Given the description of an element on the screen output the (x, y) to click on. 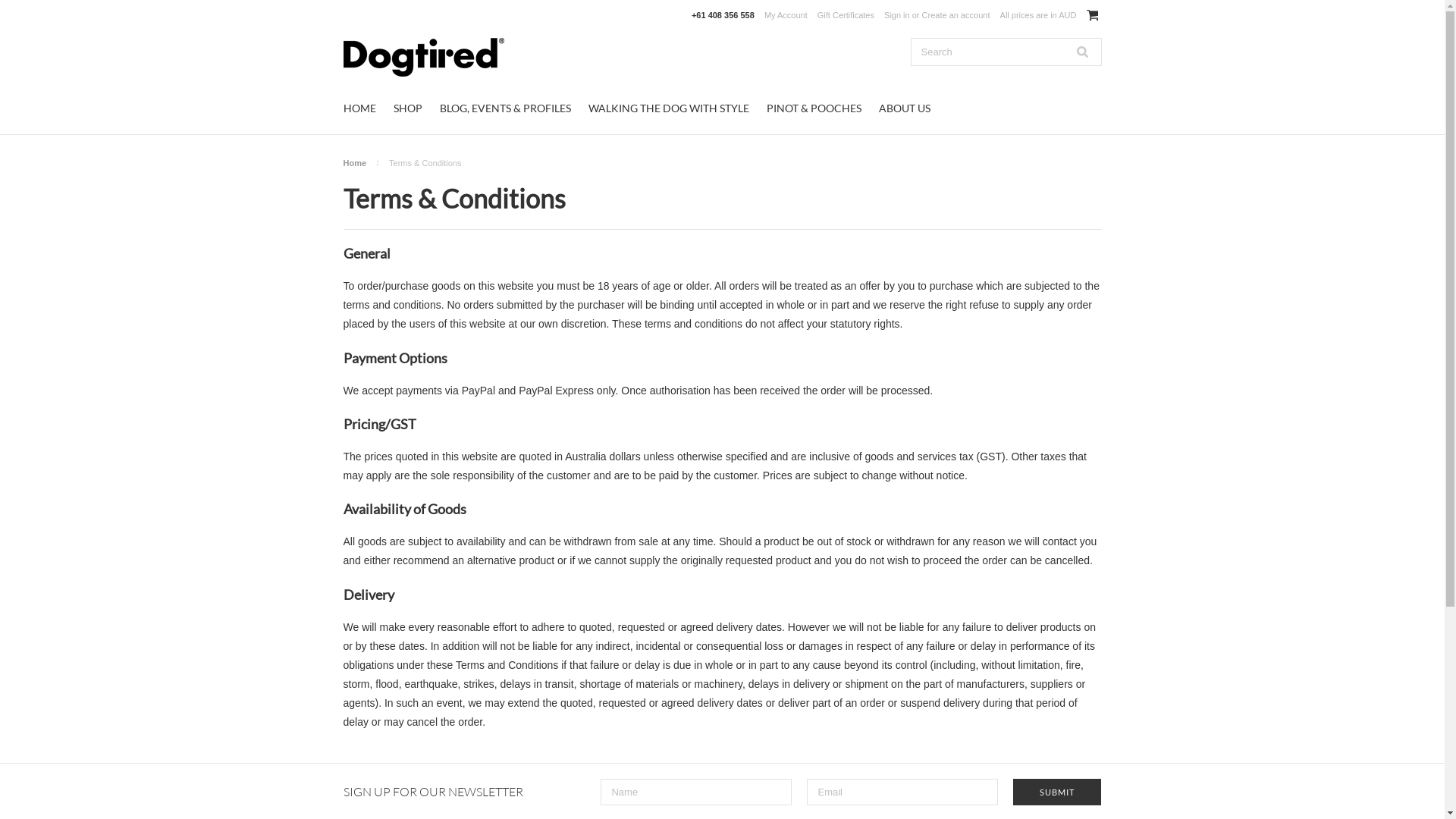
My Account Element type: text (785, 14)
ABOUT US Element type: text (903, 107)
Gift Certificates Element type: text (845, 14)
Create an account Element type: text (956, 14)
SHOP Element type: text (406, 107)
WALKING THE DOG WITH STYLE Element type: text (668, 107)
Home Element type: text (360, 162)
HOME Element type: text (358, 107)
Search Element type: hover (1082, 51)
Submit Element type: text (1057, 791)
PINOT & POOCHES Element type: text (812, 107)
View Cart Element type: hover (1091, 14)
BLOG, EVENTS & PROFILES Element type: text (505, 107)
Sign in Element type: text (897, 14)
